Given the description of an element on the screen output the (x, y) to click on. 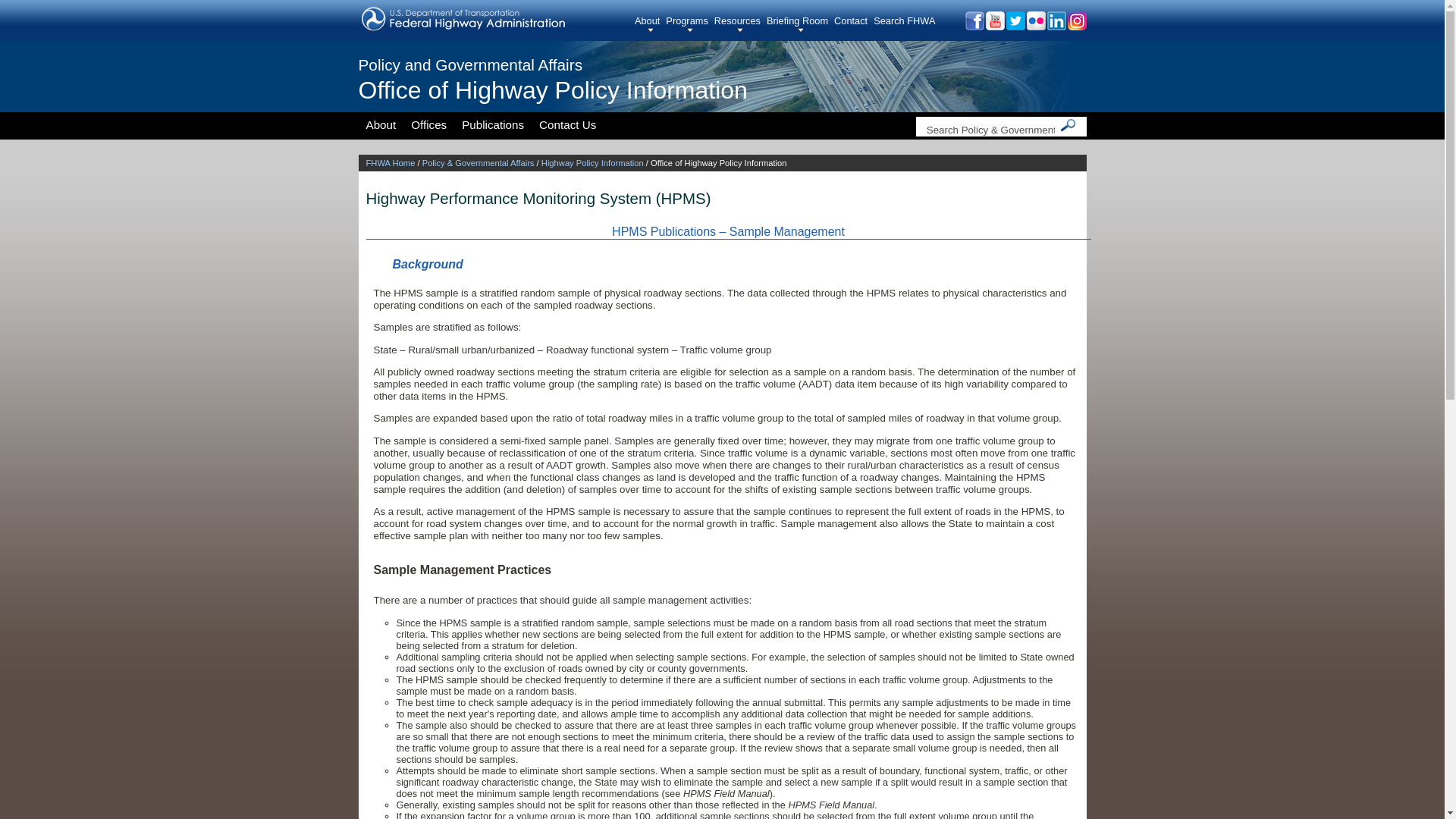
Follow Us on Twitter (1014, 25)
Resources (740, 23)
About (649, 23)
Briefing Room (800, 23)
Watch Us on YouTube (994, 25)
Programs (689, 23)
Like Us on Facebook (973, 25)
Search (1068, 125)
